Given the description of an element on the screen output the (x, y) to click on. 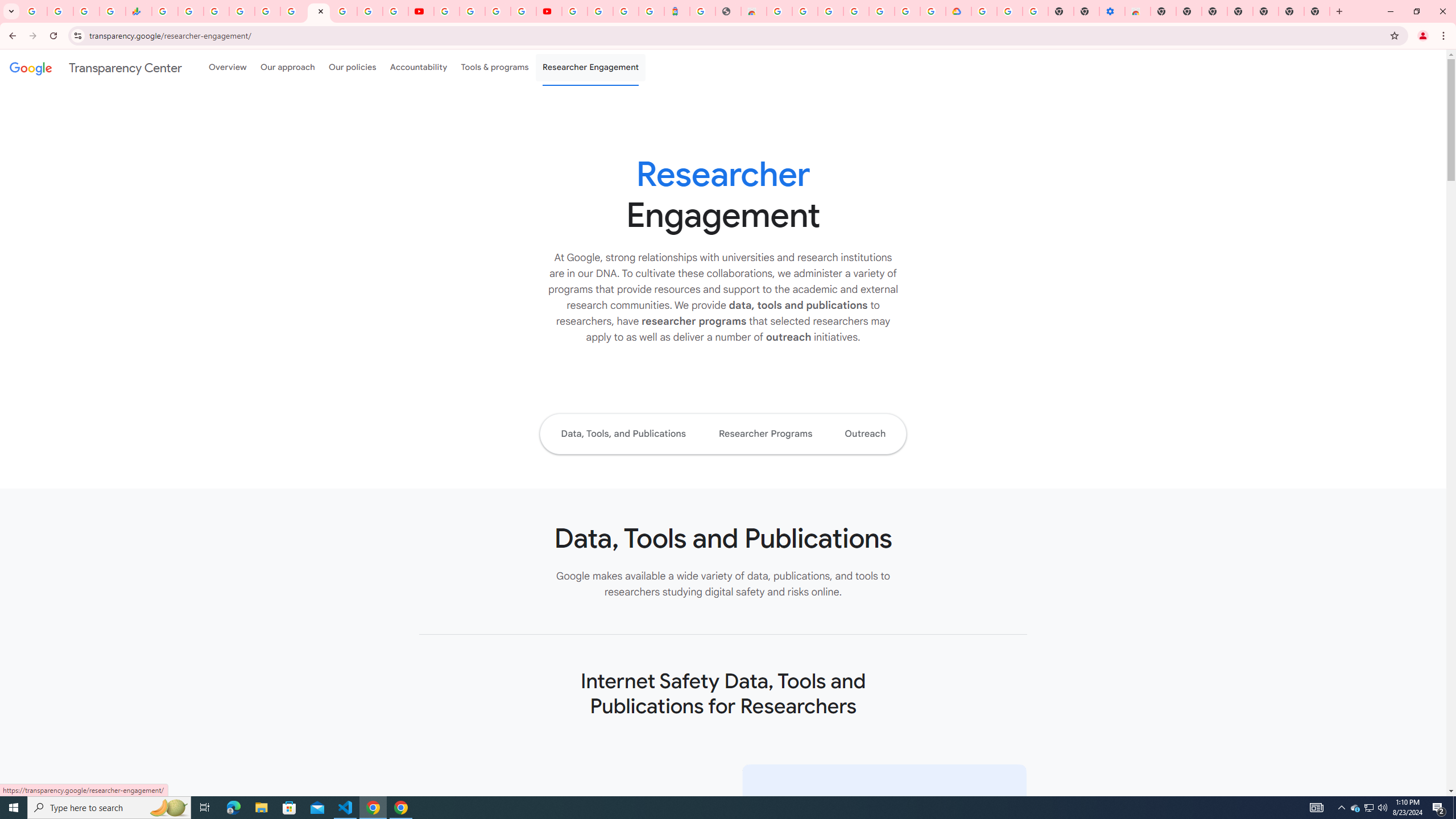
Sign in - Google Accounts (600, 11)
New Tab (1162, 11)
Sign in - Google Accounts (983, 11)
Transparency Center (95, 67)
Turn cookies on or off - Computer - Google Account Help (1034, 11)
